Given the description of an element on the screen output the (x, y) to click on. 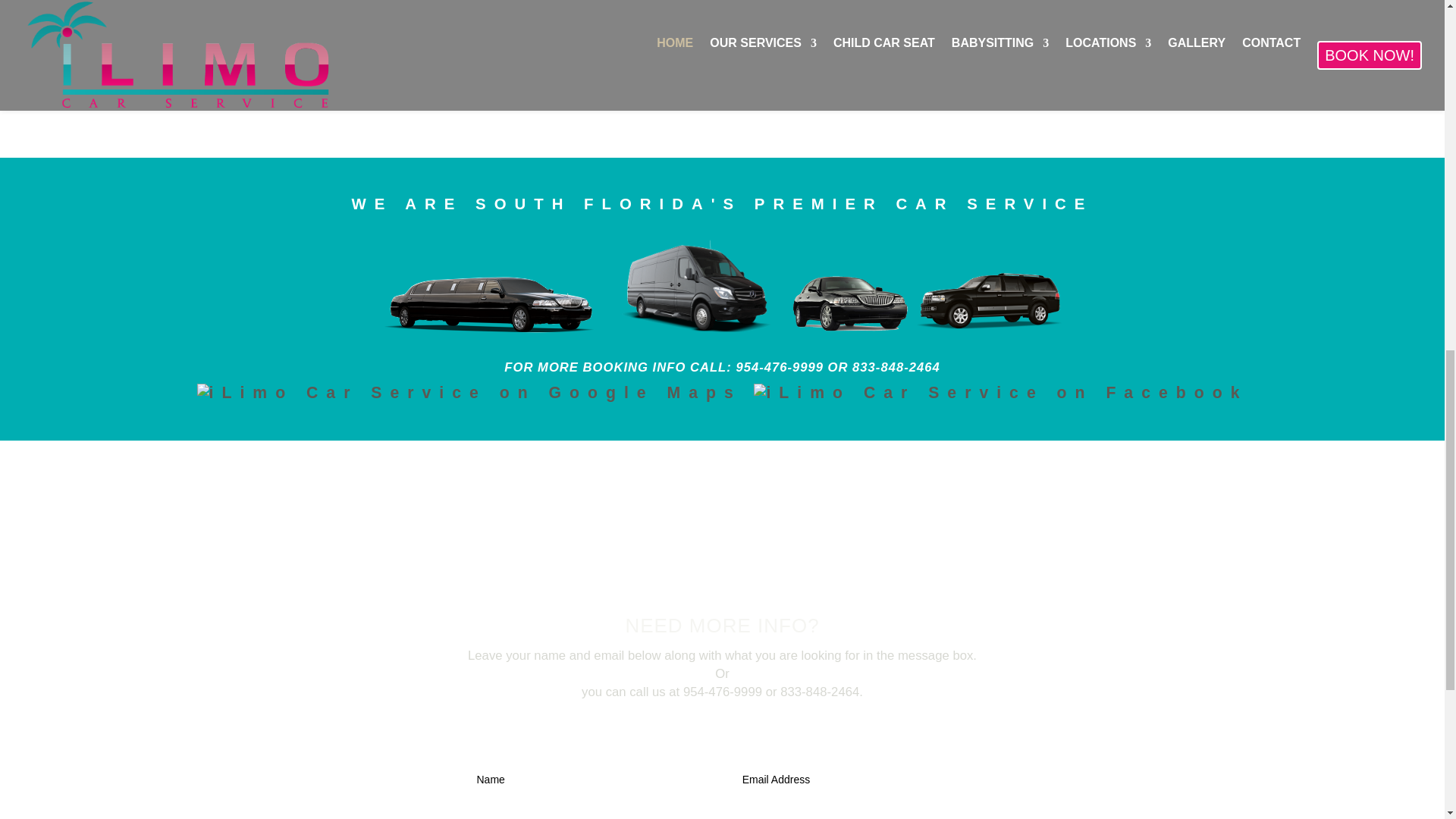
iLimo Car Service on Google Maps (468, 393)
Name (589, 779)
Email Address (854, 779)
iLimo Car Service on Facebook (1000, 393)
